Given the description of an element on the screen output the (x, y) to click on. 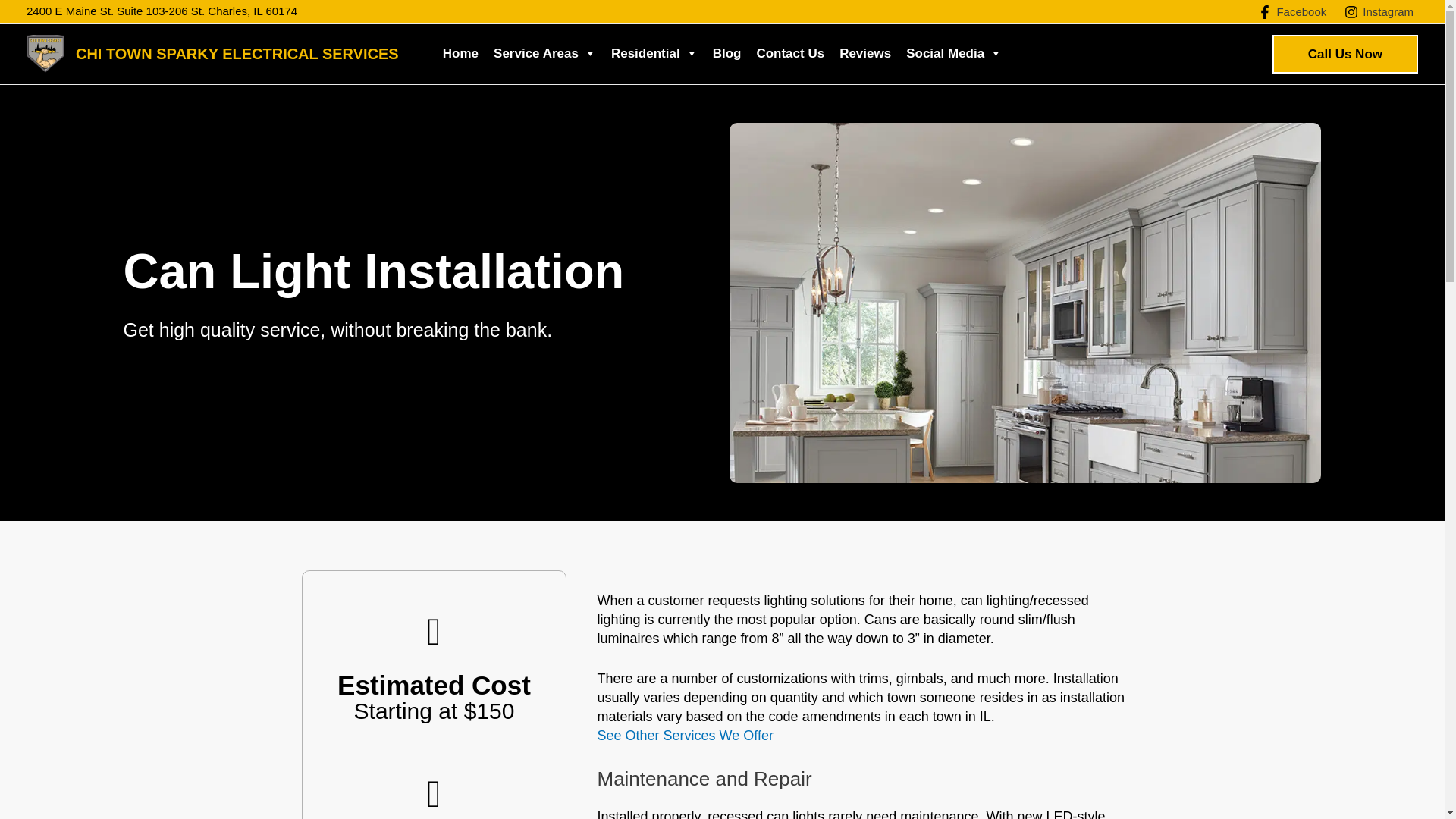
Contact Us (789, 53)
Residential (654, 53)
Instagram (1378, 11)
Home (460, 53)
Reviews (864, 53)
CHI TOWN SPARKY ELECTRICAL SERVICES (236, 53)
Blog (726, 53)
2400 E Maine St. Suite 103-206 St. Charles, IL 60174 (161, 10)
Social Media (953, 53)
Service Areas (545, 53)
